Given the description of an element on the screen output the (x, y) to click on. 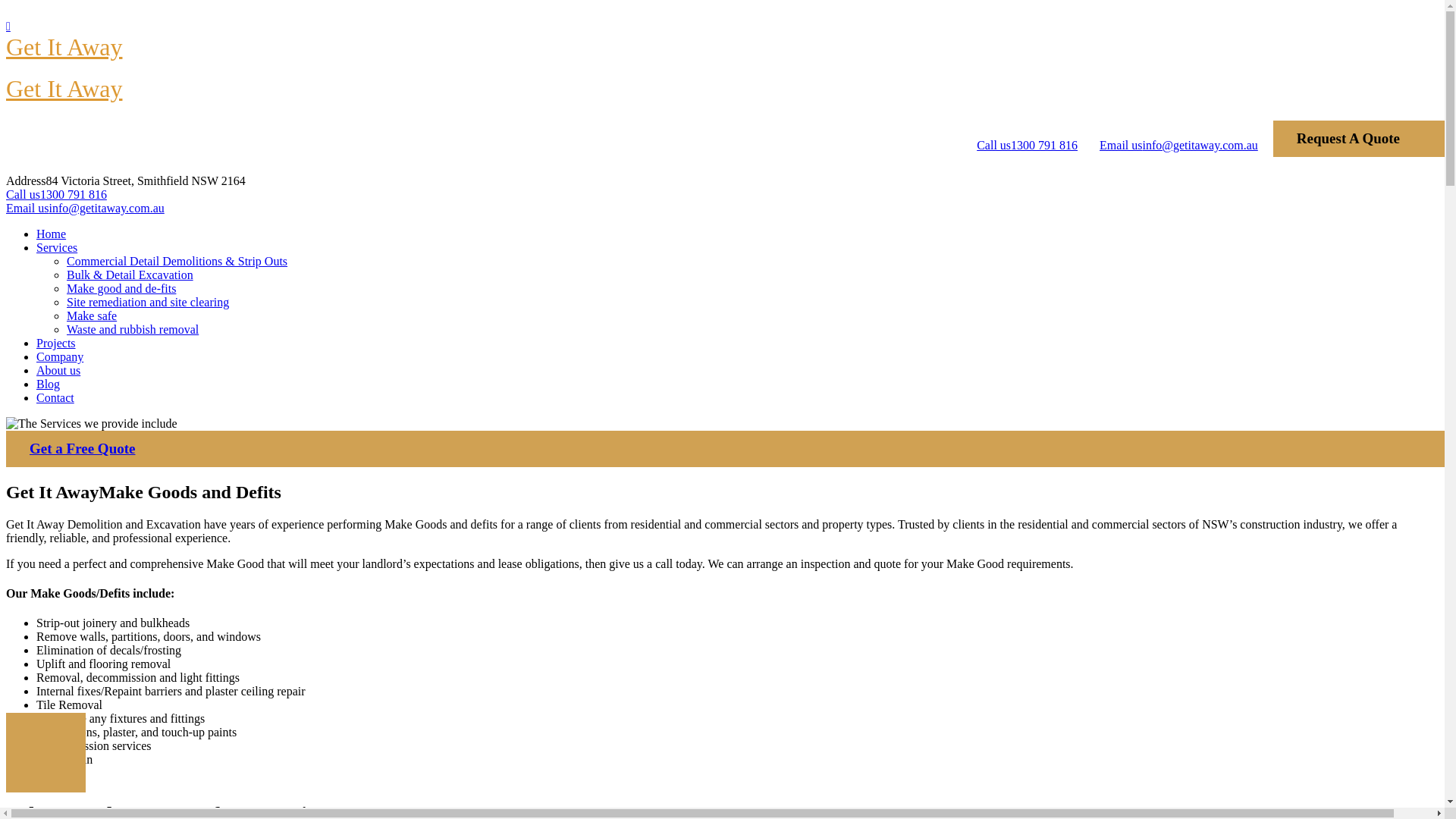
Get It Away Element type: text (64, 88)
Commercial Detail Demolitions & Strip Outs Element type: text (176, 260)
Bulk & Detail Excavation Element type: text (129, 274)
Projects Element type: text (55, 342)
Call us1300 791 816 Element type: text (1026, 138)
Email usinfo@getitaway.com.au Element type: text (722, 208)
Site remediation and site clearing Element type: text (147, 301)
Home Element type: text (50, 233)
Make safe Element type: text (91, 315)
Get a Free Quote Element type: text (81, 448)
Call us1300 791 816 Element type: text (722, 194)
The Services we provide include Element type: hover (91, 423)
Services Element type: text (56, 247)
Email usinfo@getitaway.com.au Element type: text (1178, 138)
Make good and de-fits Element type: text (120, 288)
Blog Element type: text (47, 383)
Contact Element type: text (55, 397)
Get It Away Element type: text (64, 46)
Company Element type: text (59, 356)
Waste and rubbish removal Element type: text (132, 329)
About us Element type: text (58, 370)
